Given the description of an element on the screen output the (x, y) to click on. 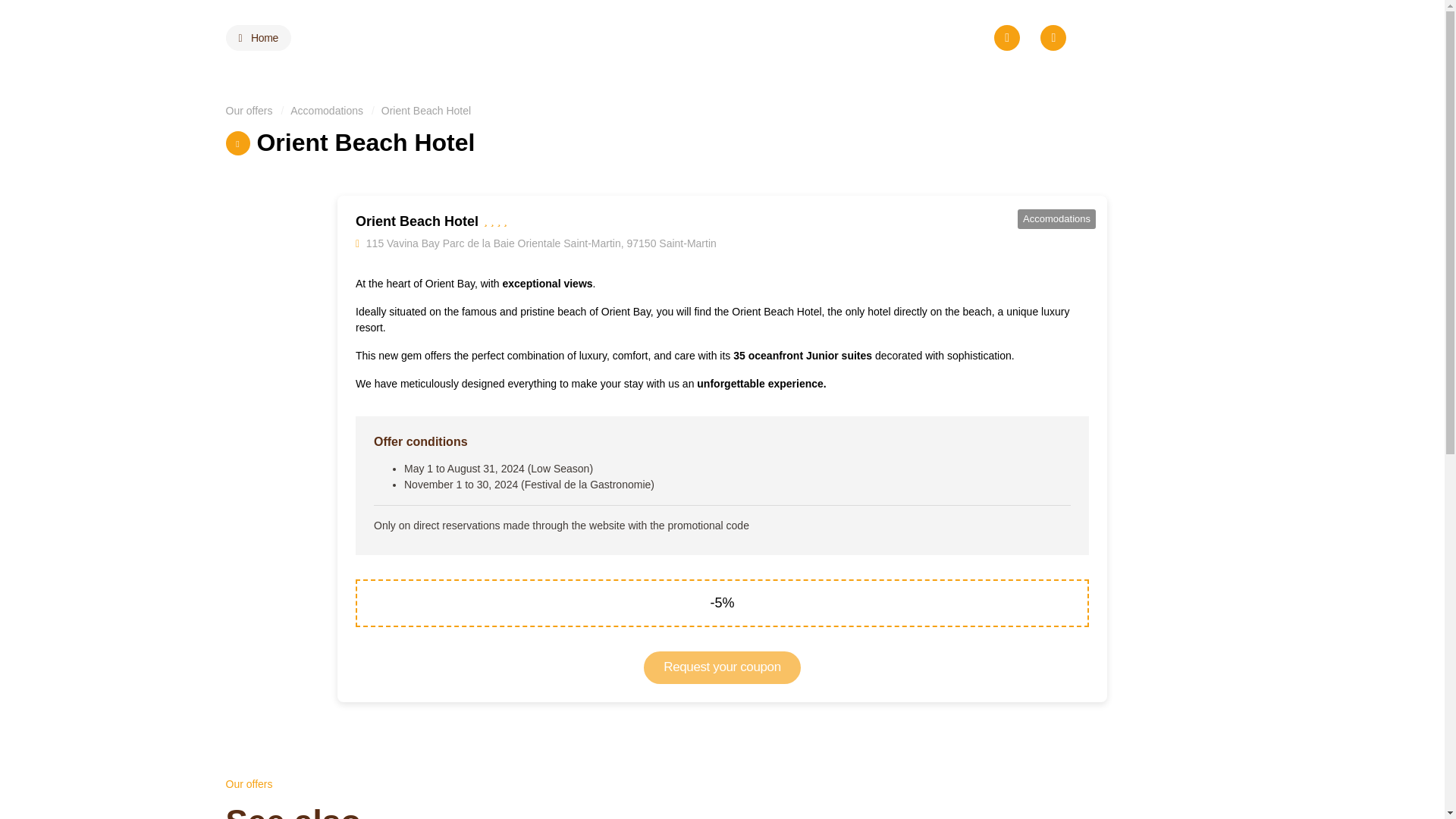
Accomodations (1390, 21)
Home (258, 37)
st-martin.org (258, 37)
Accomodations (325, 110)
st-martin.org (1177, 37)
Our offers (249, 110)
Request your coupon (721, 667)
Accomodations (1056, 218)
